Given the description of an element on the screen output the (x, y) to click on. 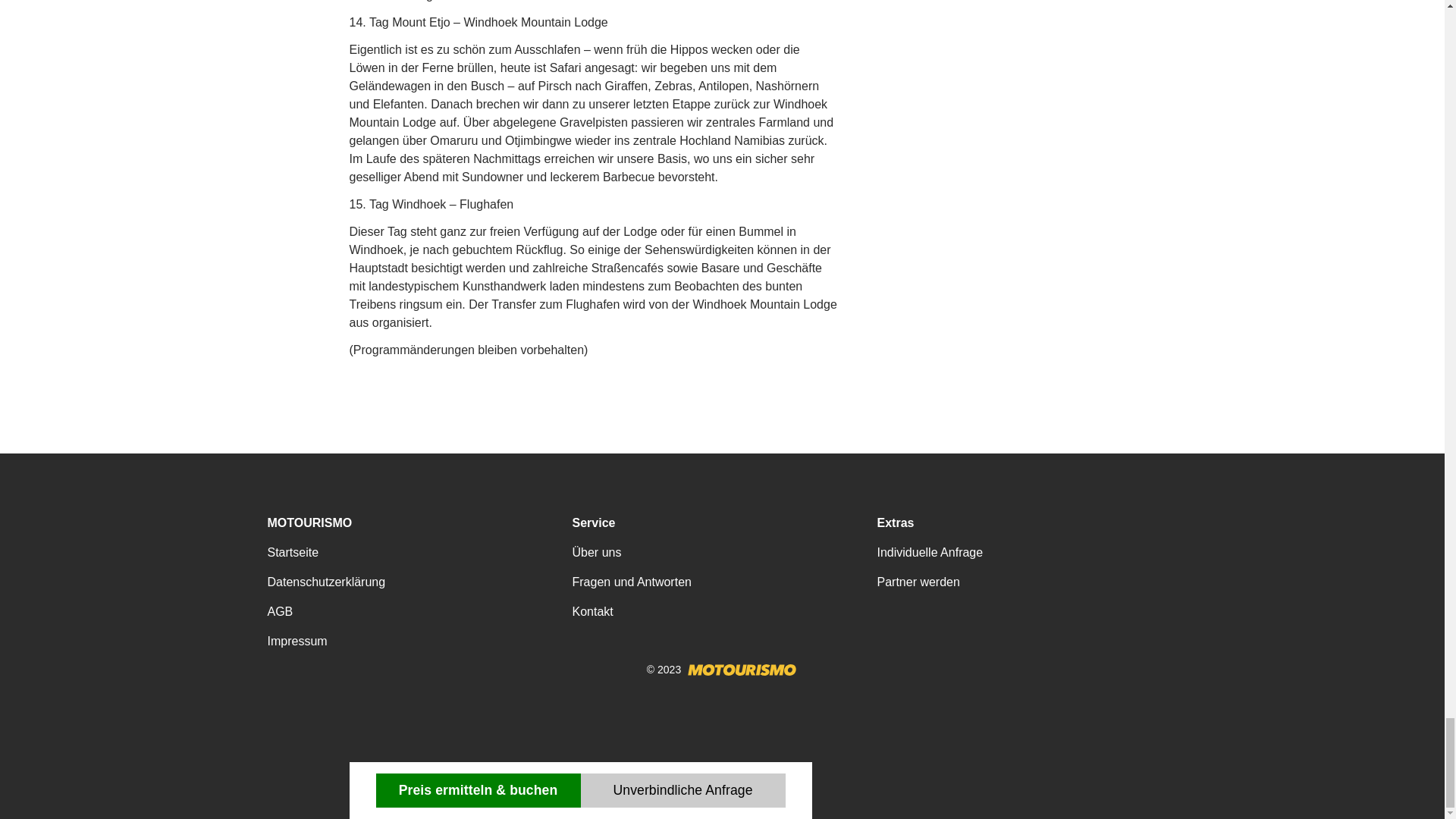
Individuelle Anfrage (929, 552)
Startseite (292, 552)
Partner werden (917, 581)
Impressum (296, 640)
Kontakt (592, 611)
AGB (279, 611)
Fragen und Antworten (631, 581)
